Given the description of an element on the screen output the (x, y) to click on. 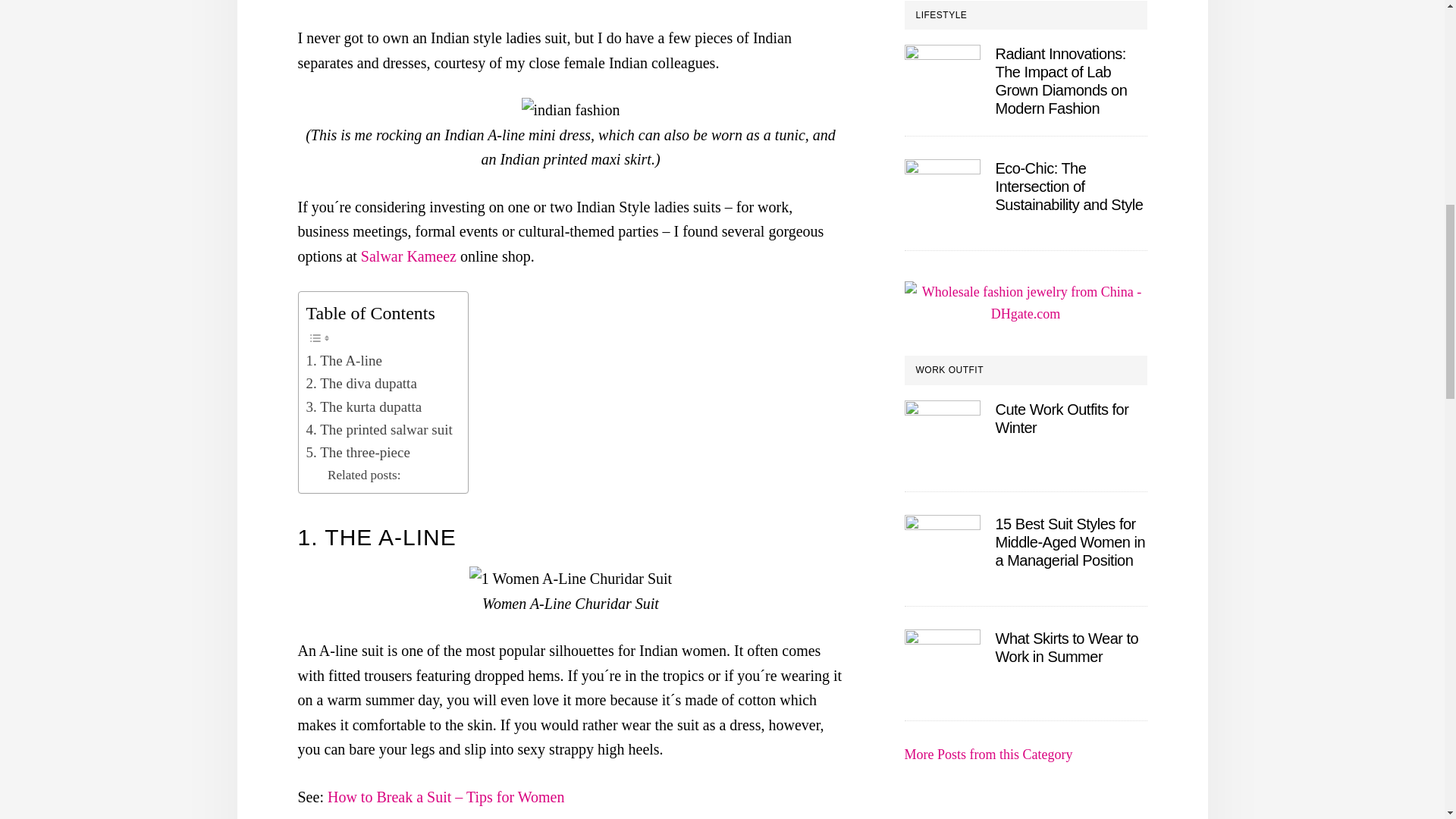
5. The three-piece (357, 452)
Work Outfit (987, 754)
3. The kurta dupatta (363, 406)
3. The kurta dupatta (363, 406)
Salwar Kameez (409, 256)
Related posts: (363, 475)
1. The A-line (343, 360)
2. The diva dupatta (360, 383)
2. The diva dupatta (360, 383)
4. The printed salwar suit (378, 429)
4. The printed salwar suit (378, 429)
5. The three-piece (357, 452)
Related posts: (363, 475)
1. The A-line (343, 360)
